Given the description of an element on the screen output the (x, y) to click on. 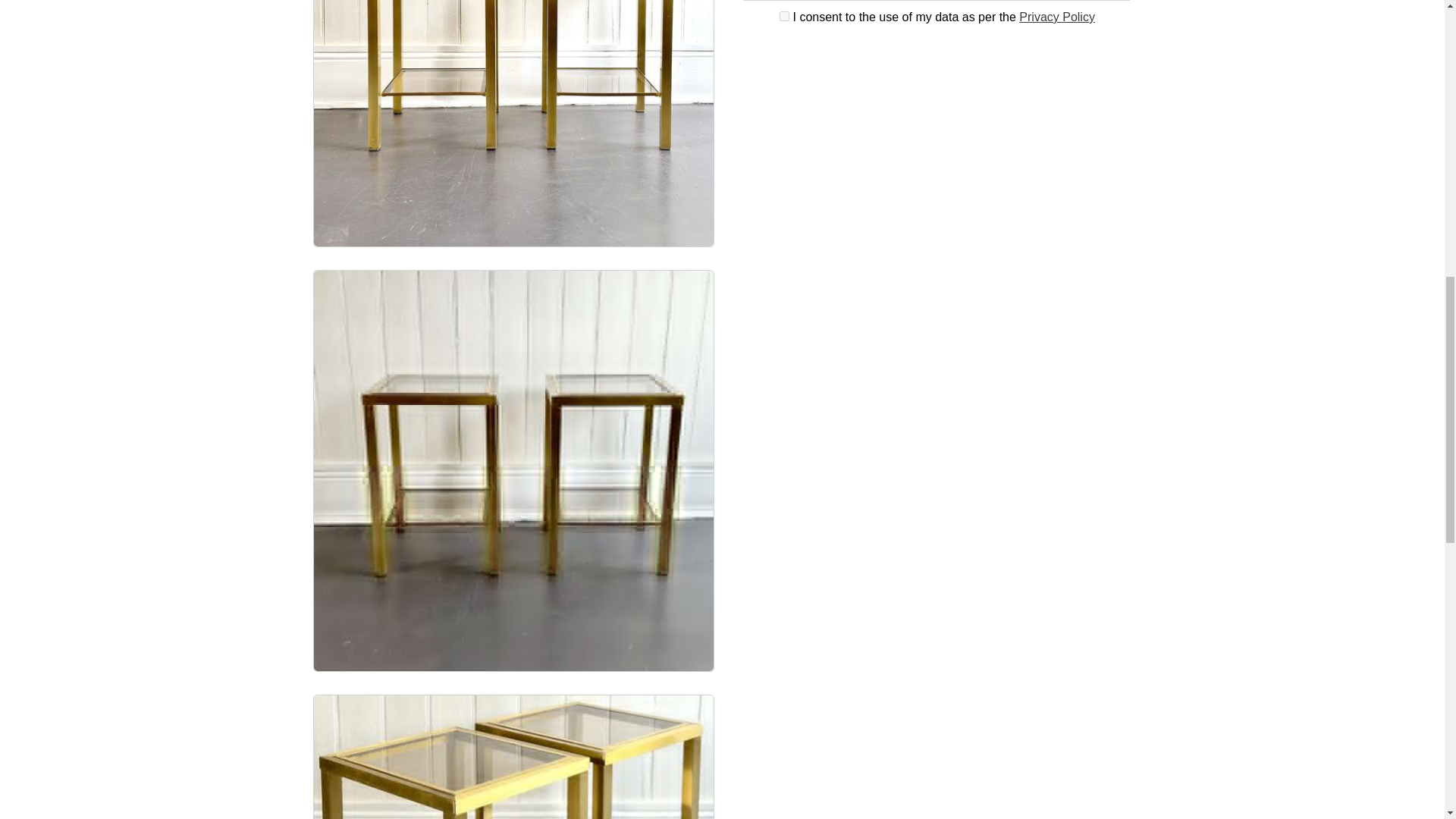
Privacy Policy (1056, 16)
on (783, 16)
